Given the description of an element on the screen output the (x, y) to click on. 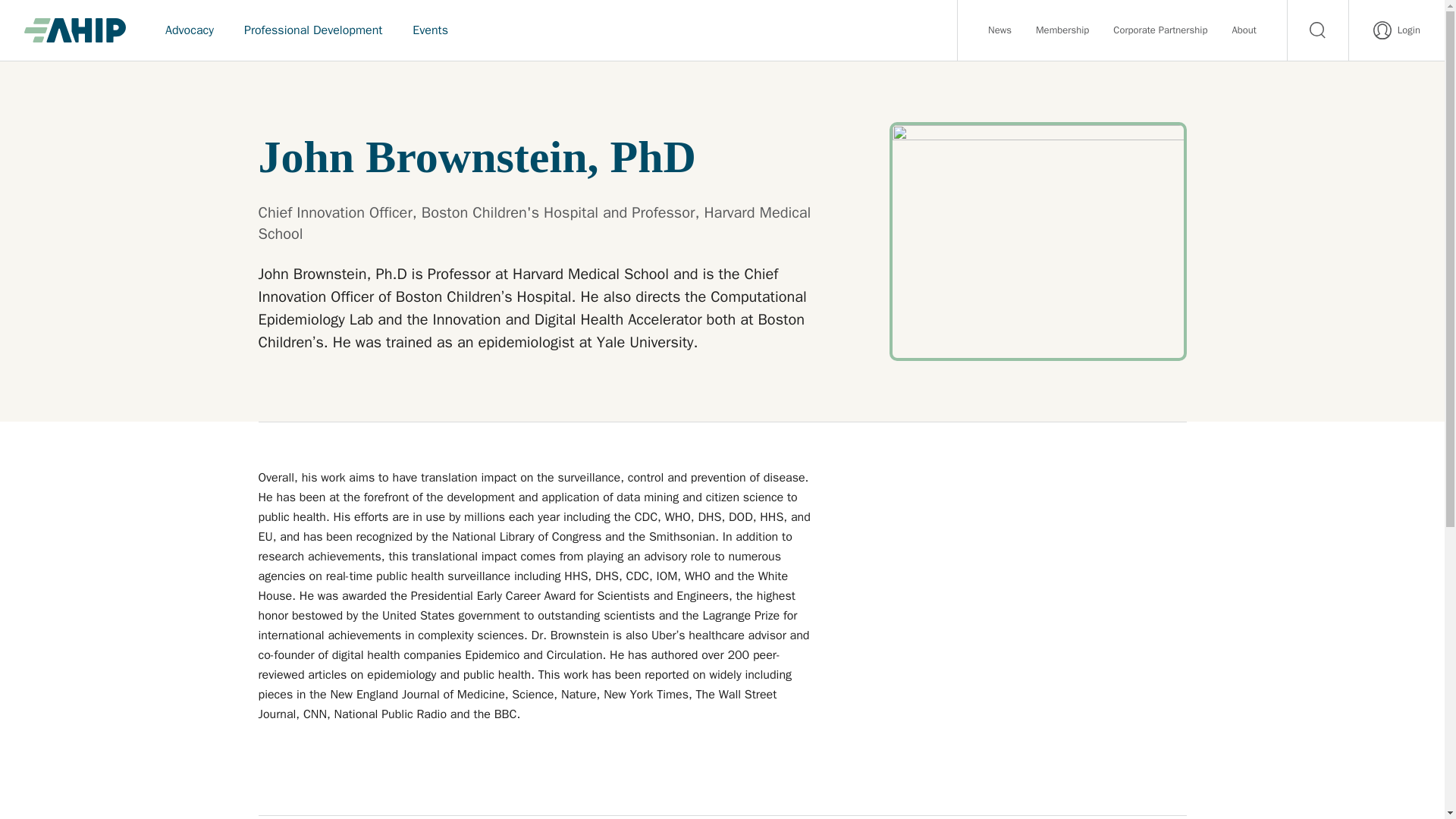
Professional Development (312, 30)
Corporate Partnership (1160, 30)
Advocacy (188, 30)
Events (430, 30)
Toggle Search (1317, 30)
Membership (1061, 30)
